Given the description of an element on the screen output the (x, y) to click on. 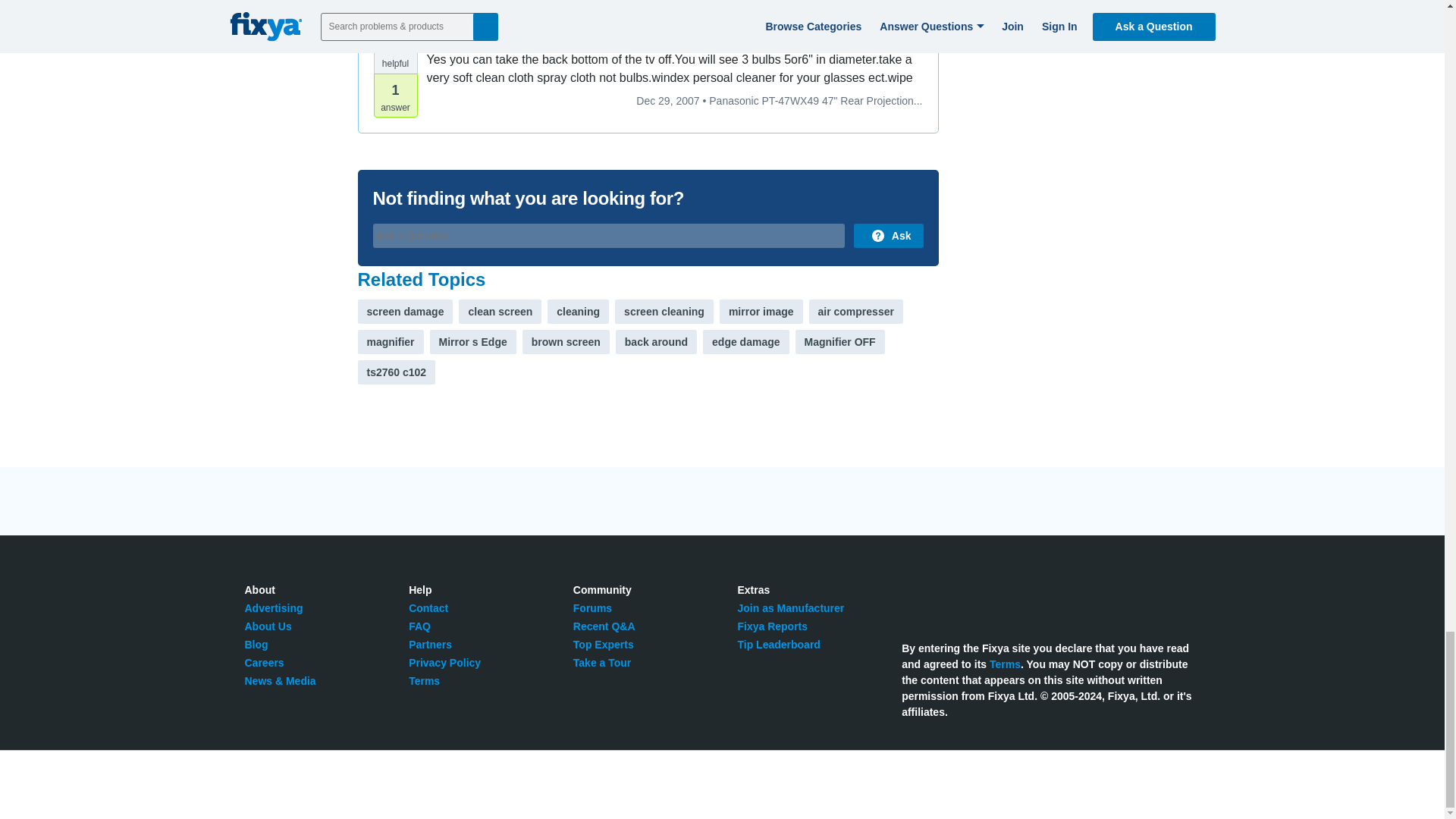
Ask (888, 235)
